Given the description of an element on the screen output the (x, y) to click on. 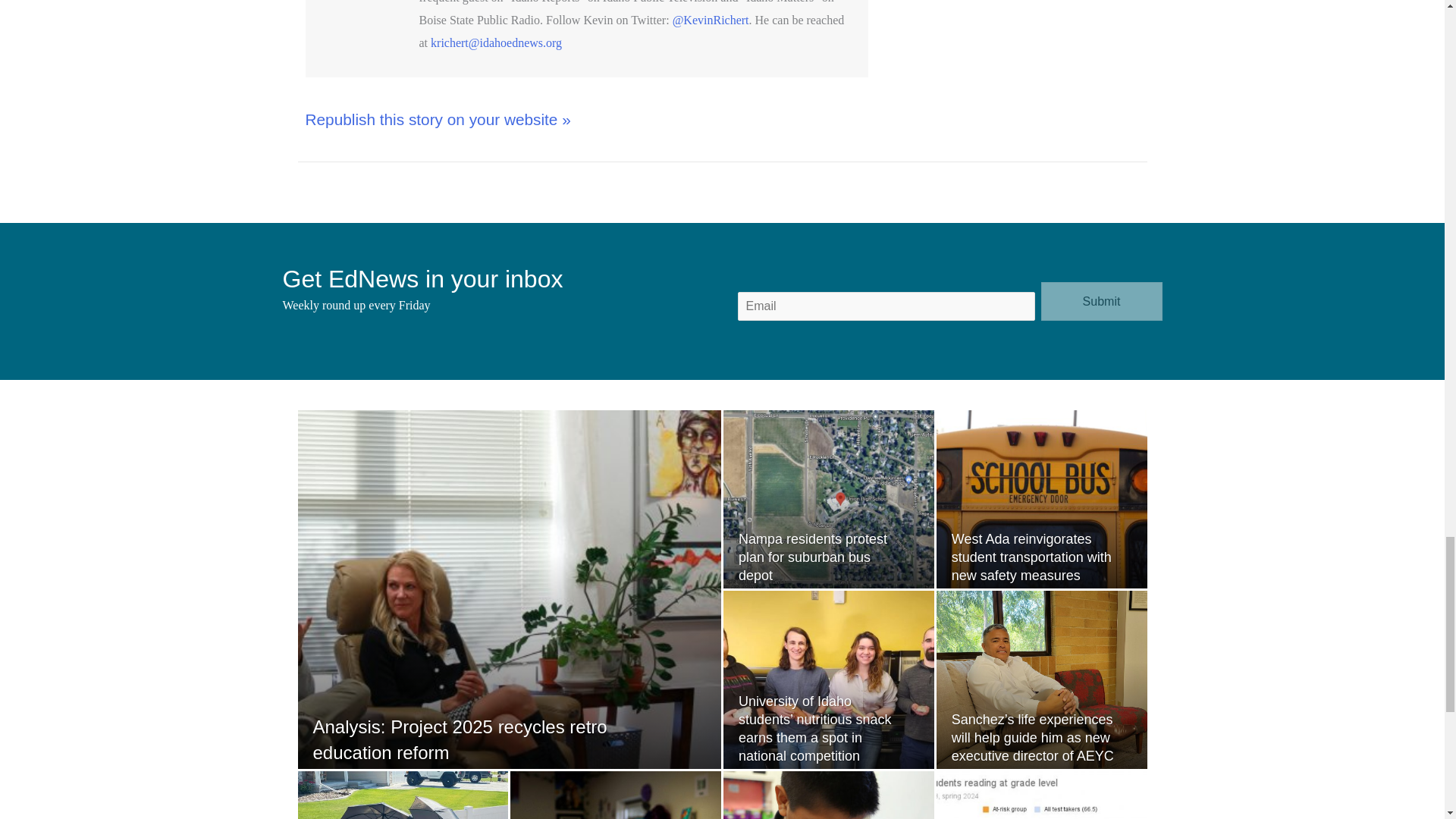
Analysis: Project 2025 recycles retro education reform (460, 739)
Nampa residents protest plan for suburban bus depot (812, 557)
